Given the description of an element on the screen output the (x, y) to click on. 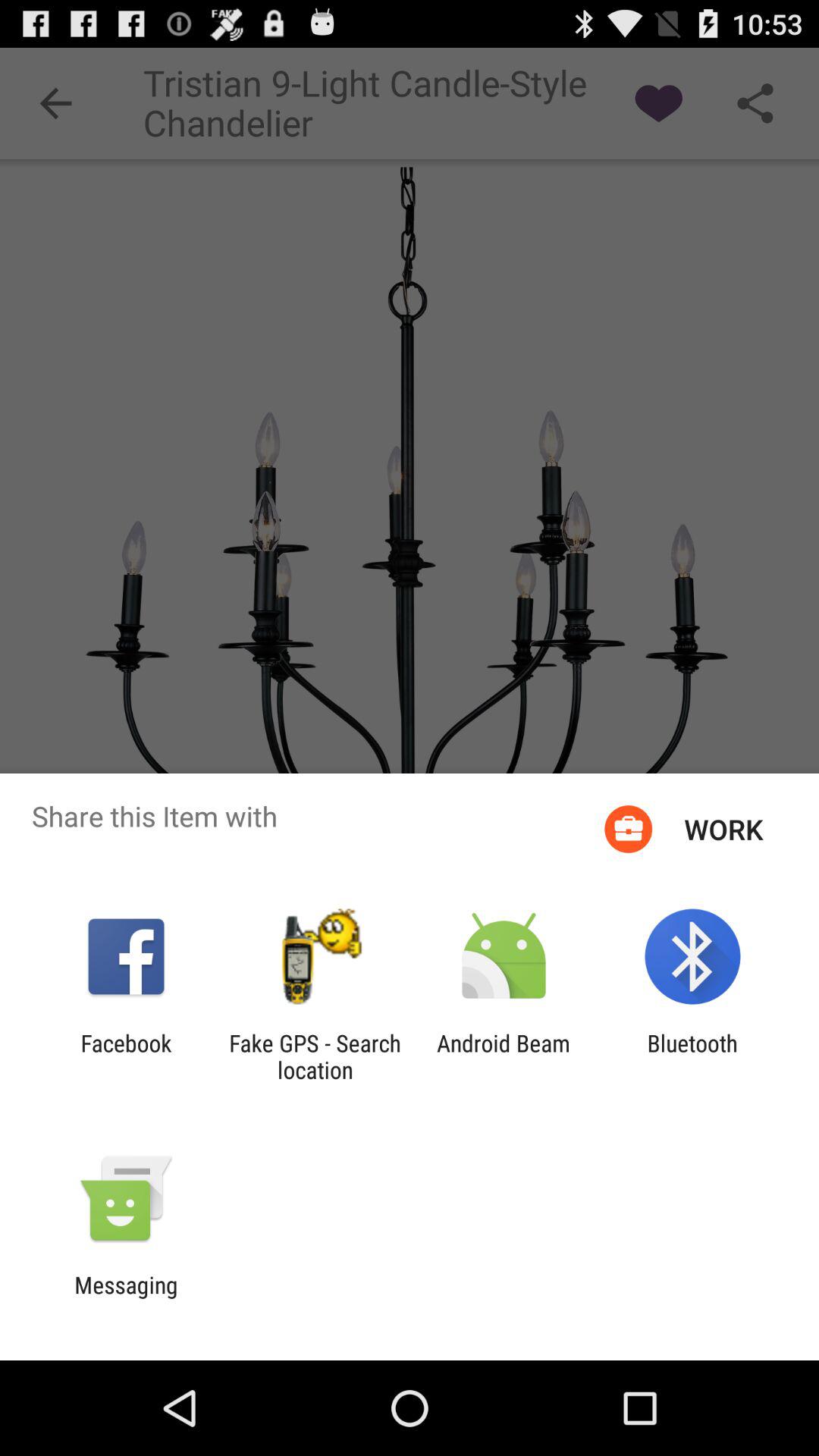
swipe until the messaging (126, 1298)
